Given the description of an element on the screen output the (x, y) to click on. 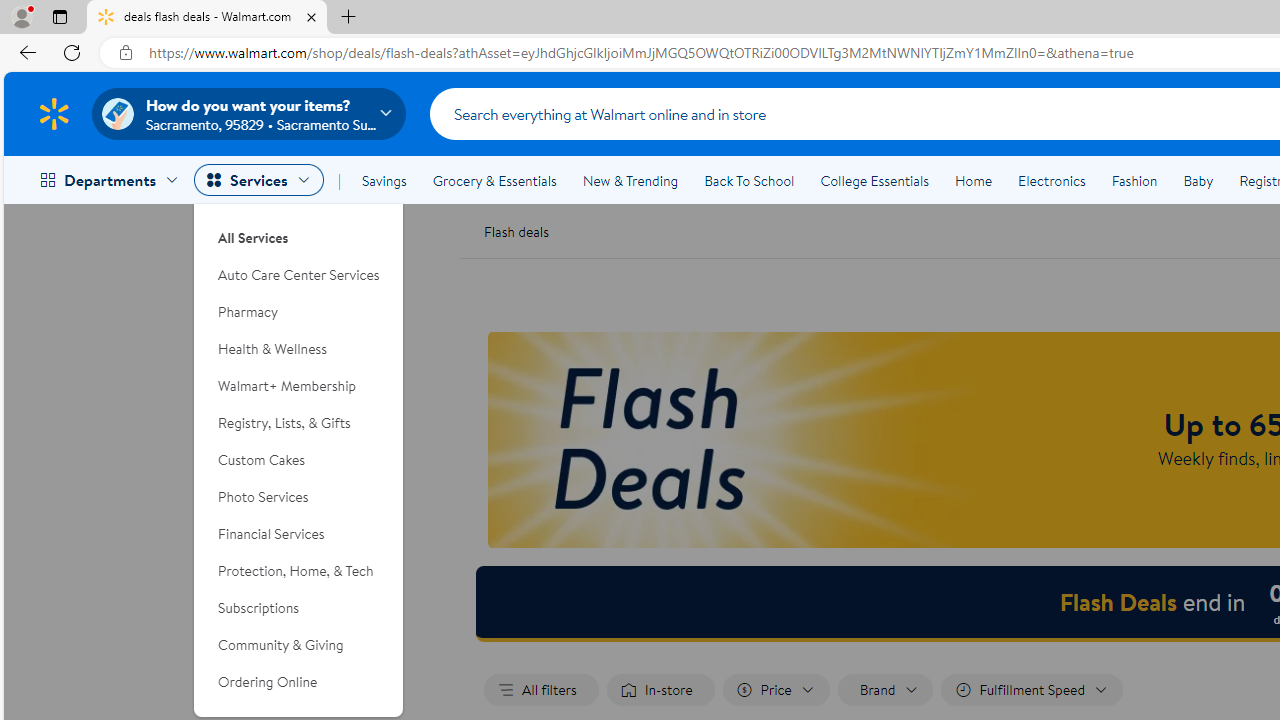
Walmart Homepage (53, 113)
deals flash deals - Walmart.com (207, 17)
Auto Care Center Services (299, 275)
Health & Wellness (299, 349)
Walmart+ Membership (299, 385)
Financial Services (299, 534)
Ordering Online (299, 682)
Baby (1197, 180)
Pharmacy (299, 312)
Back To School (749, 180)
Protection, Home, & Tech (299, 570)
Financial Services (299, 534)
Savings (384, 180)
